Given the description of an element on the screen output the (x, y) to click on. 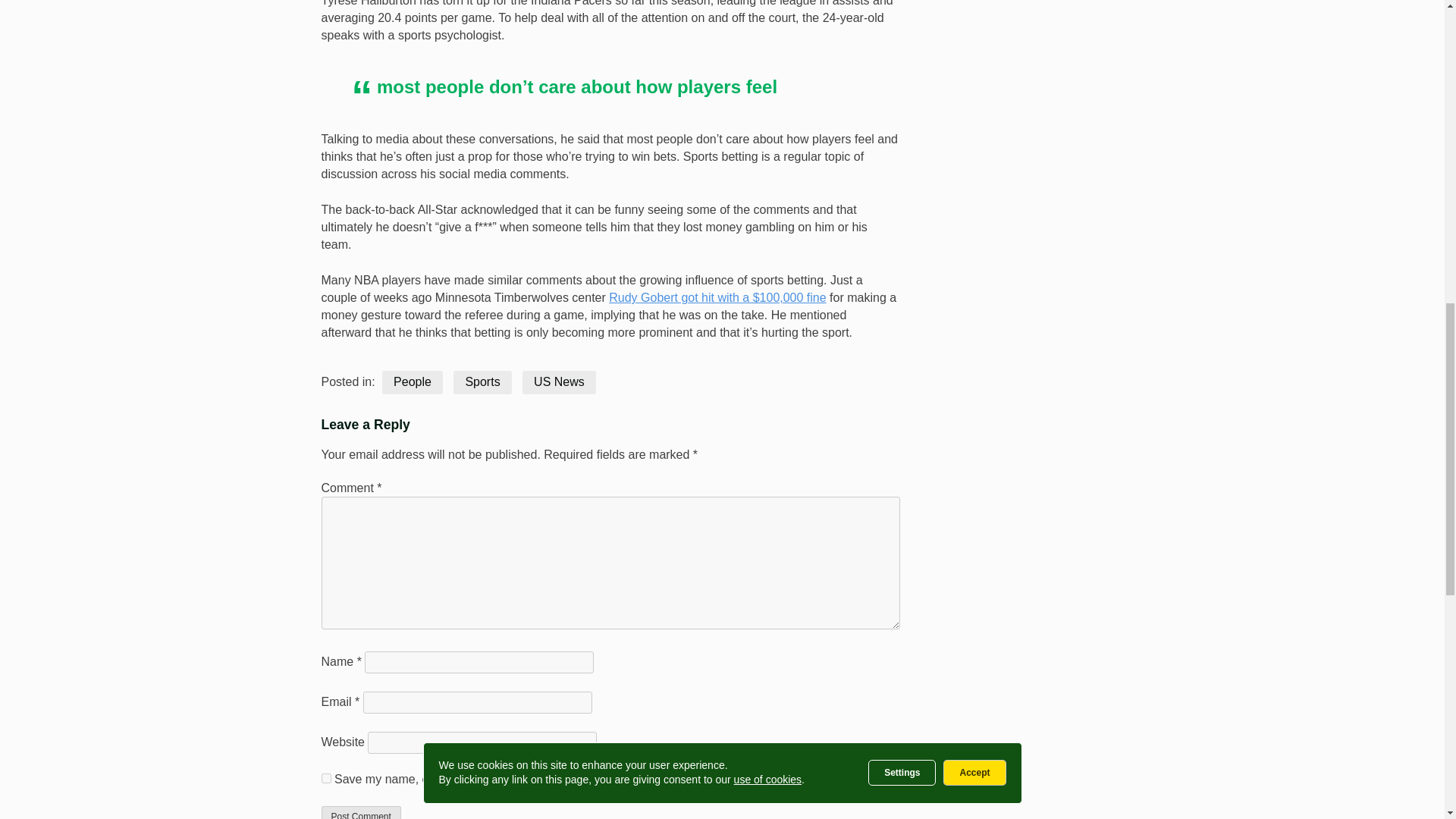
Post Comment (361, 812)
yes (326, 777)
Post Comment (361, 812)
Sports (481, 382)
US News (558, 382)
People (411, 382)
